Given the description of an element on the screen output the (x, y) to click on. 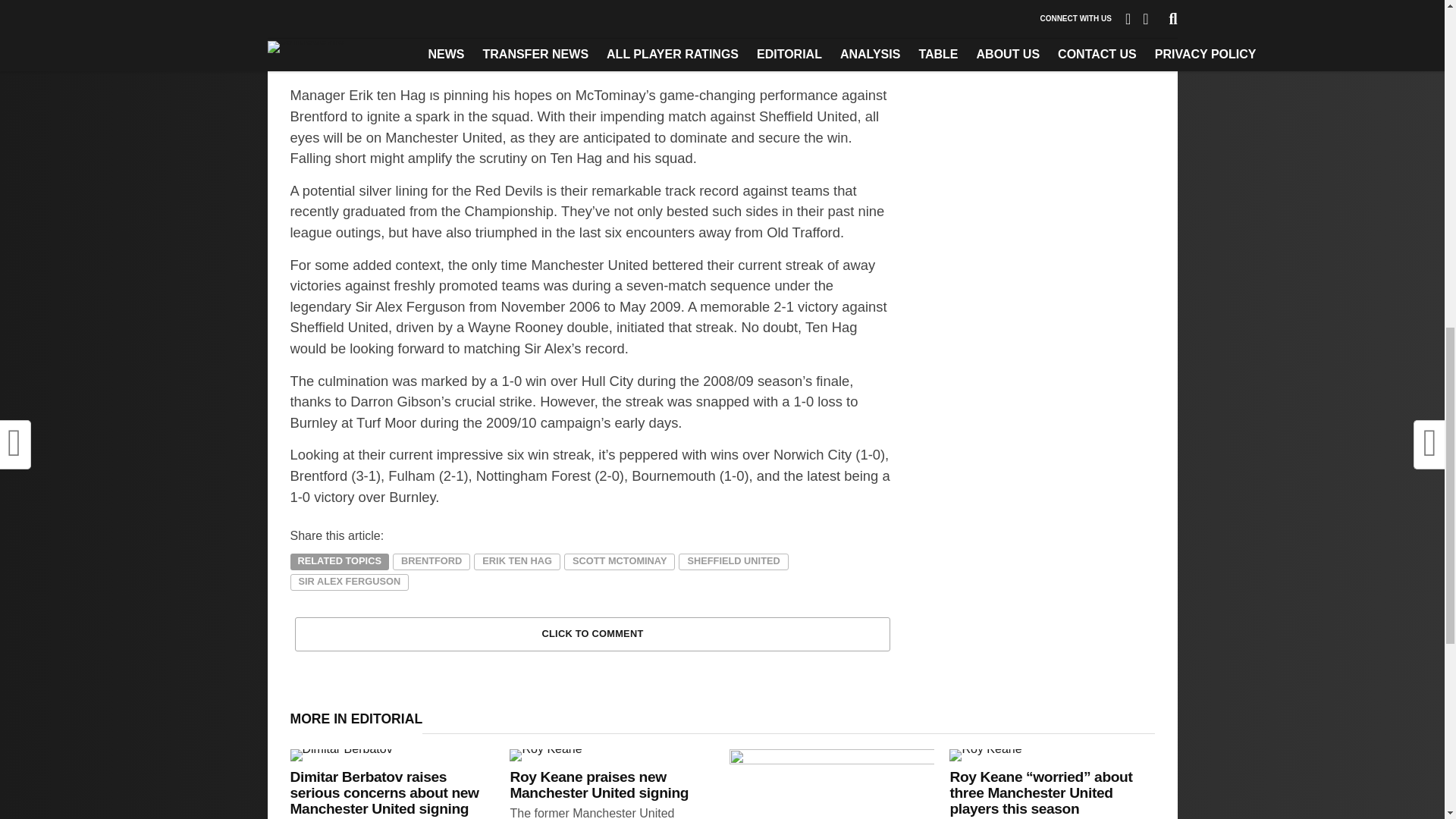
BRENTFORD (431, 561)
ERIK TEN HAG (517, 561)
SHEFFIELD UNITED (732, 561)
SCOTT MCTOMINAY (619, 561)
